Given the description of an element on the screen output the (x, y) to click on. 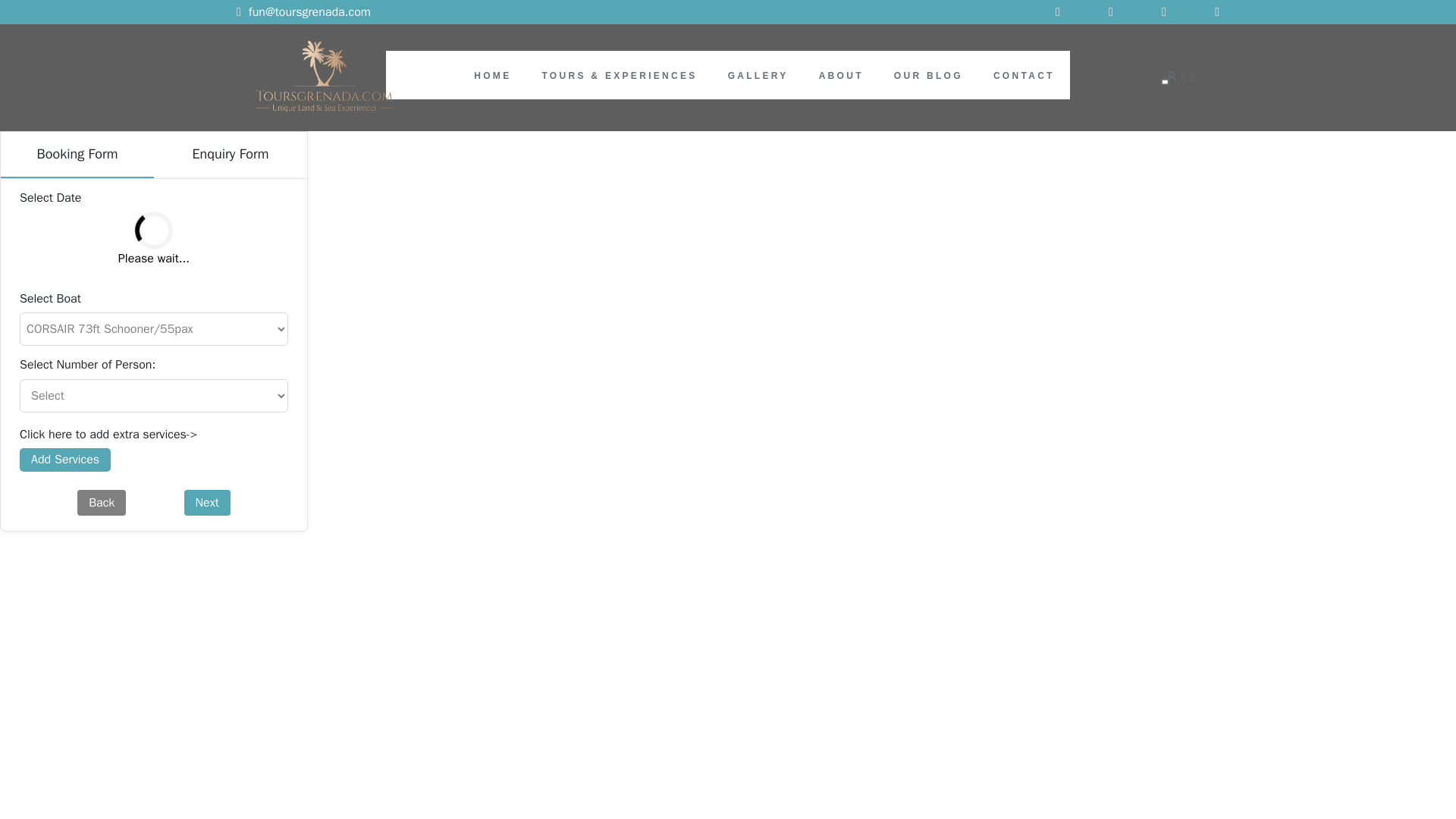
GALLERY (758, 75)
ABOUT (840, 75)
OUR BLOG (927, 75)
HOME (492, 75)
CONTACT (1023, 75)
